Given the description of an element on the screen output the (x, y) to click on. 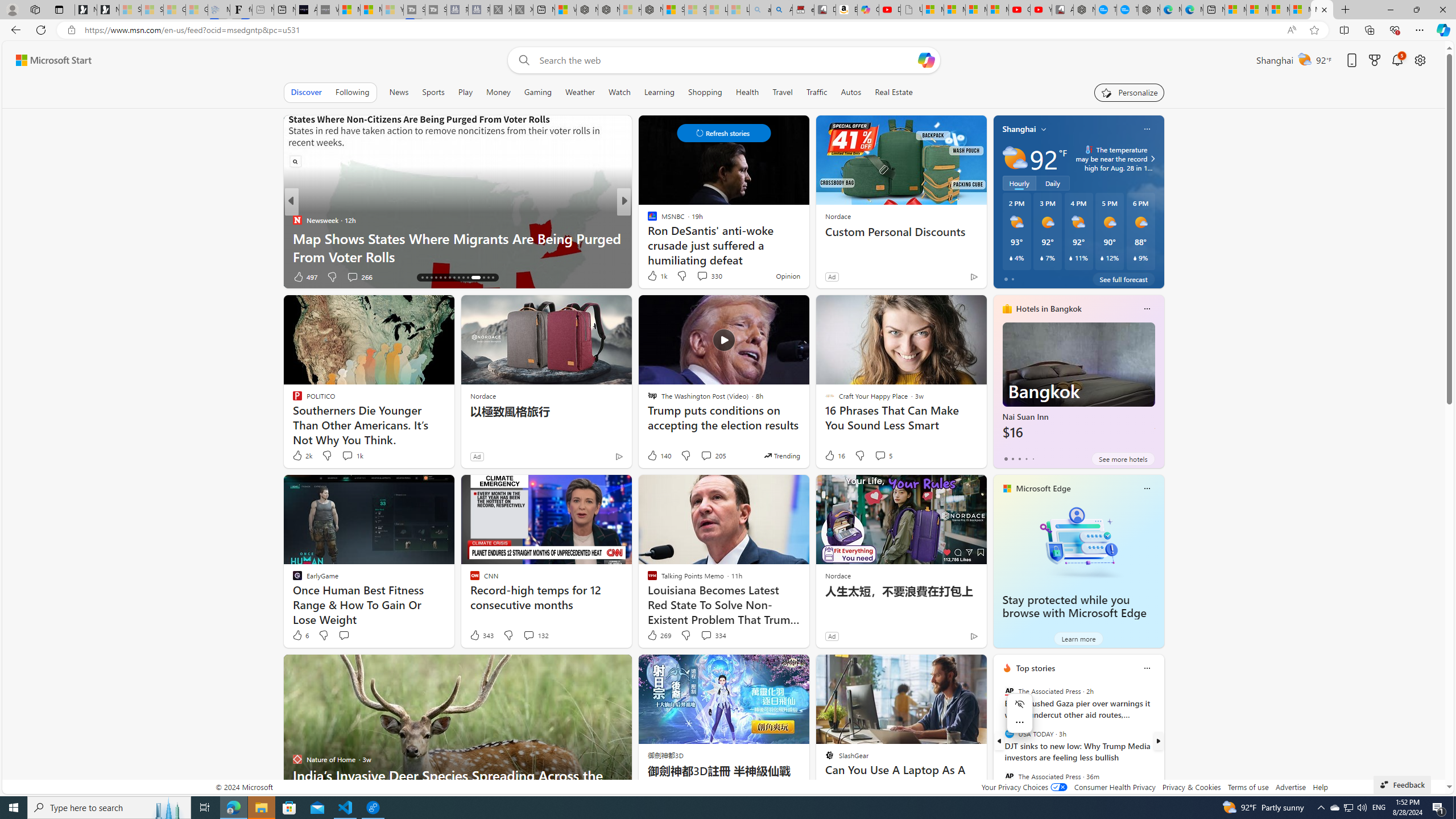
Advertise (1290, 786)
Shopping (705, 92)
AutomationID: tab-27 (473, 277)
Stay protected while you browse with Microsoft Edge (1074, 606)
Comments turned off for this story (695, 276)
181 Like (654, 276)
View comments 334 Comment (705, 635)
Weather (580, 92)
Skip to content (49, 59)
